Given the description of an element on the screen output the (x, y) to click on. 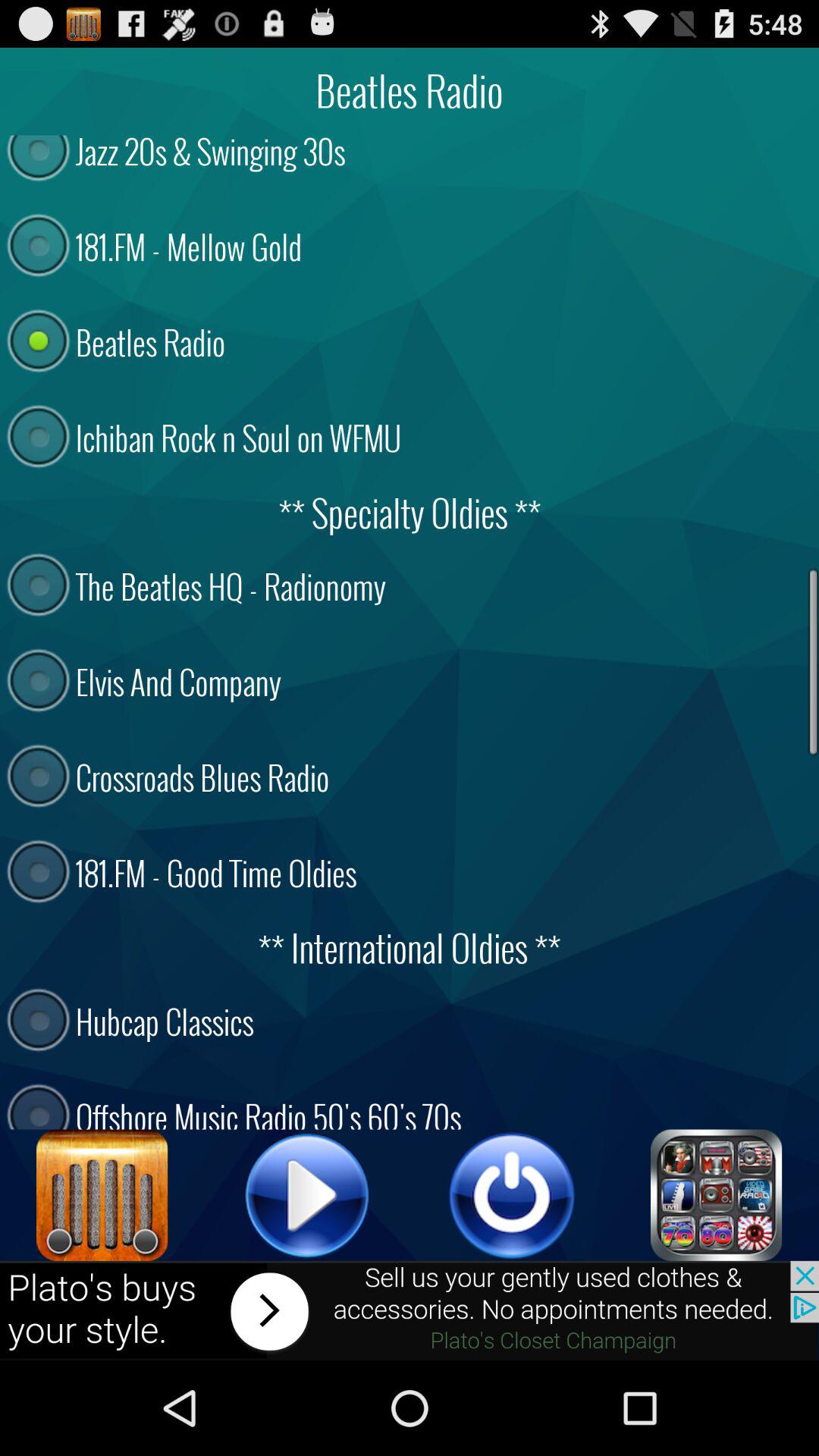
more stations (716, 1194)
